Given the description of an element on the screen output the (x, y) to click on. 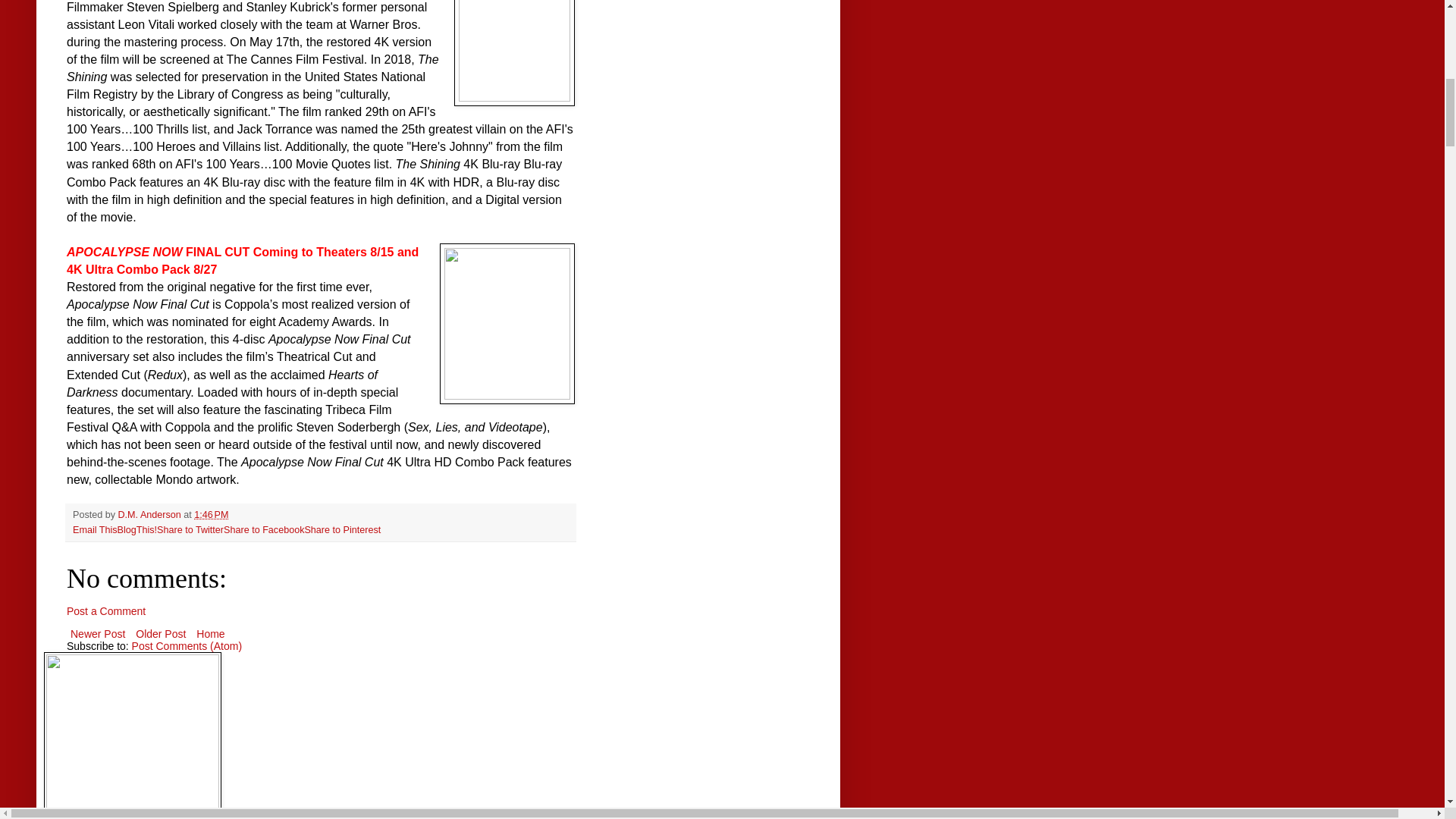
D.M. Anderson (150, 514)
BlogThis! (137, 529)
Share to Pinterest (342, 529)
BlogThis! (137, 529)
permanent link (210, 514)
Newer Post (97, 633)
Share to Pinterest (342, 529)
Older Post (160, 633)
Older Post (160, 633)
author profile (150, 514)
Share to Facebook (264, 529)
Home (210, 633)
Email Post (237, 514)
Share to Facebook (264, 529)
